Given the description of an element on the screen output the (x, y) to click on. 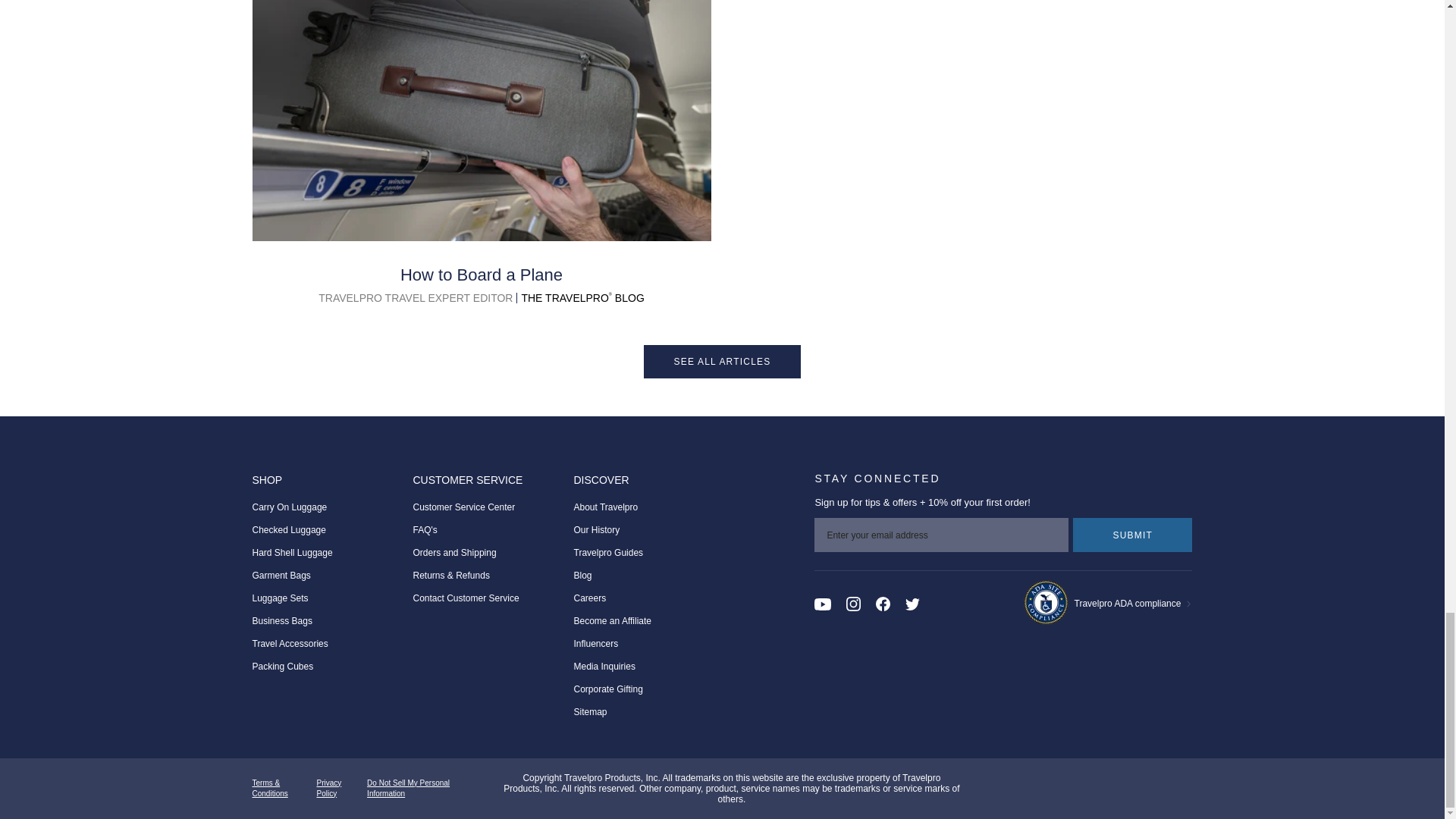
Travelpro on Twitter (912, 603)
Travelpro on Instagram (852, 603)
Travelpro on Facebook (882, 603)
Travelpro on YouTube (822, 603)
